Given the description of an element on the screen output the (x, y) to click on. 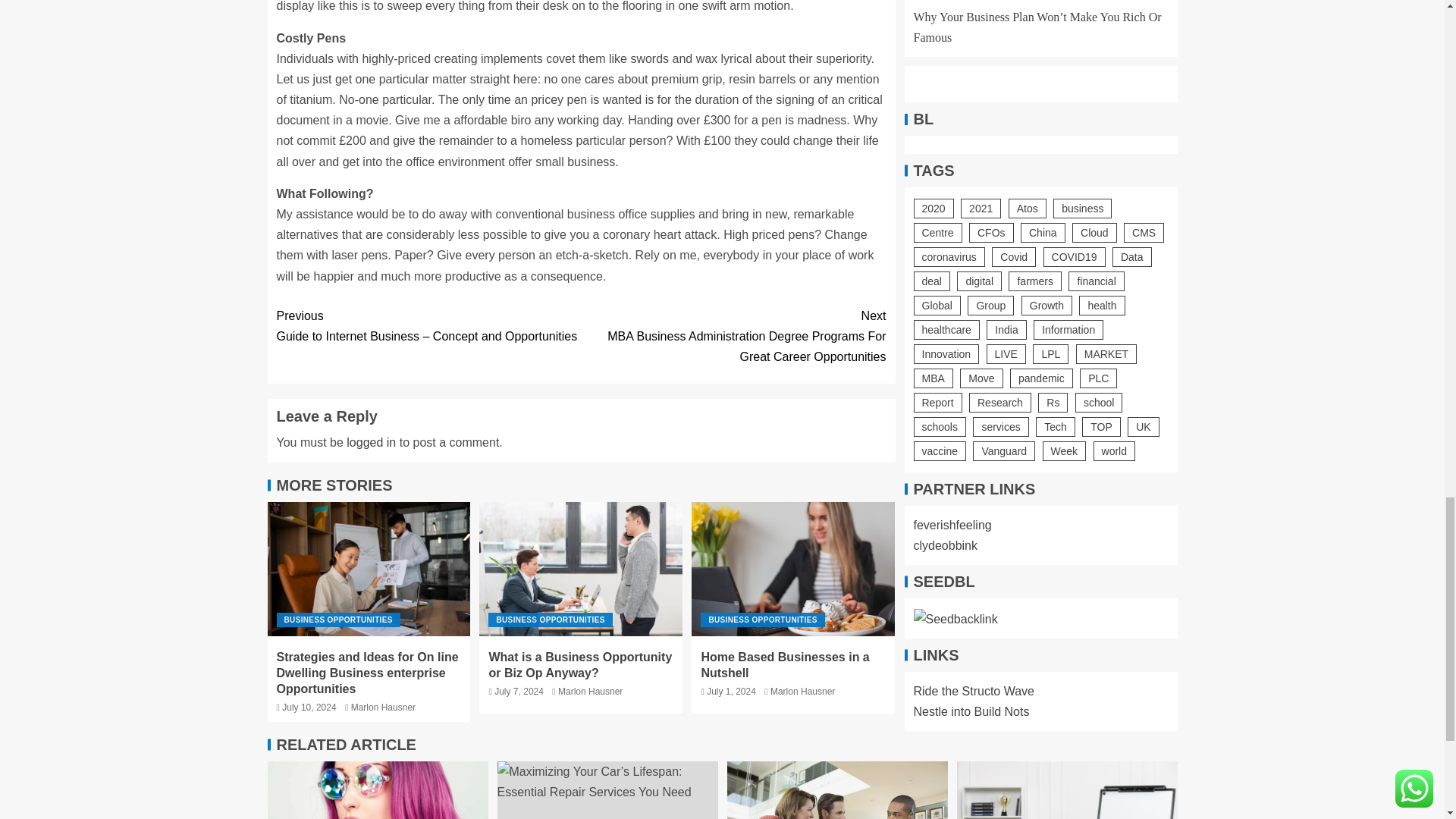
Marlon Hausner (802, 691)
BUSINESS OPPORTUNITIES (762, 619)
From Thin to Thick: The Magic of Hair Wigs (376, 790)
Marlon Hausner (590, 691)
BUSINESS OPPORTUNITIES (337, 619)
Home Based Businesses in a Nutshell (793, 569)
Home Based Businesses in a Nutshell (784, 664)
What is a Business Opportunity or Biz Op Anyway? (580, 569)
